Given the description of an element on the screen output the (x, y) to click on. 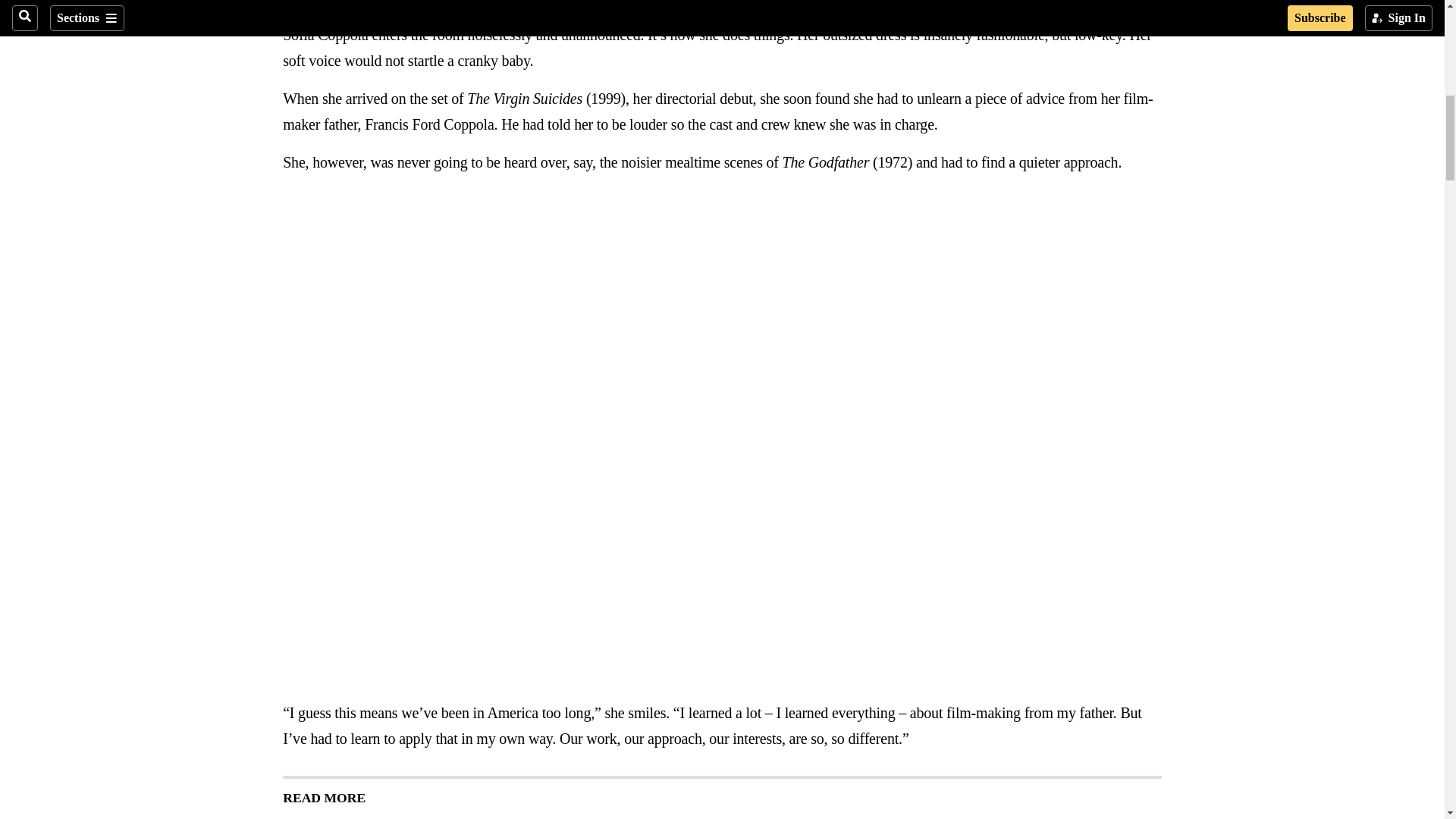
X (322, 4)
WhatsApp (352, 4)
Facebook (291, 4)
